Given the description of an element on the screen output the (x, y) to click on. 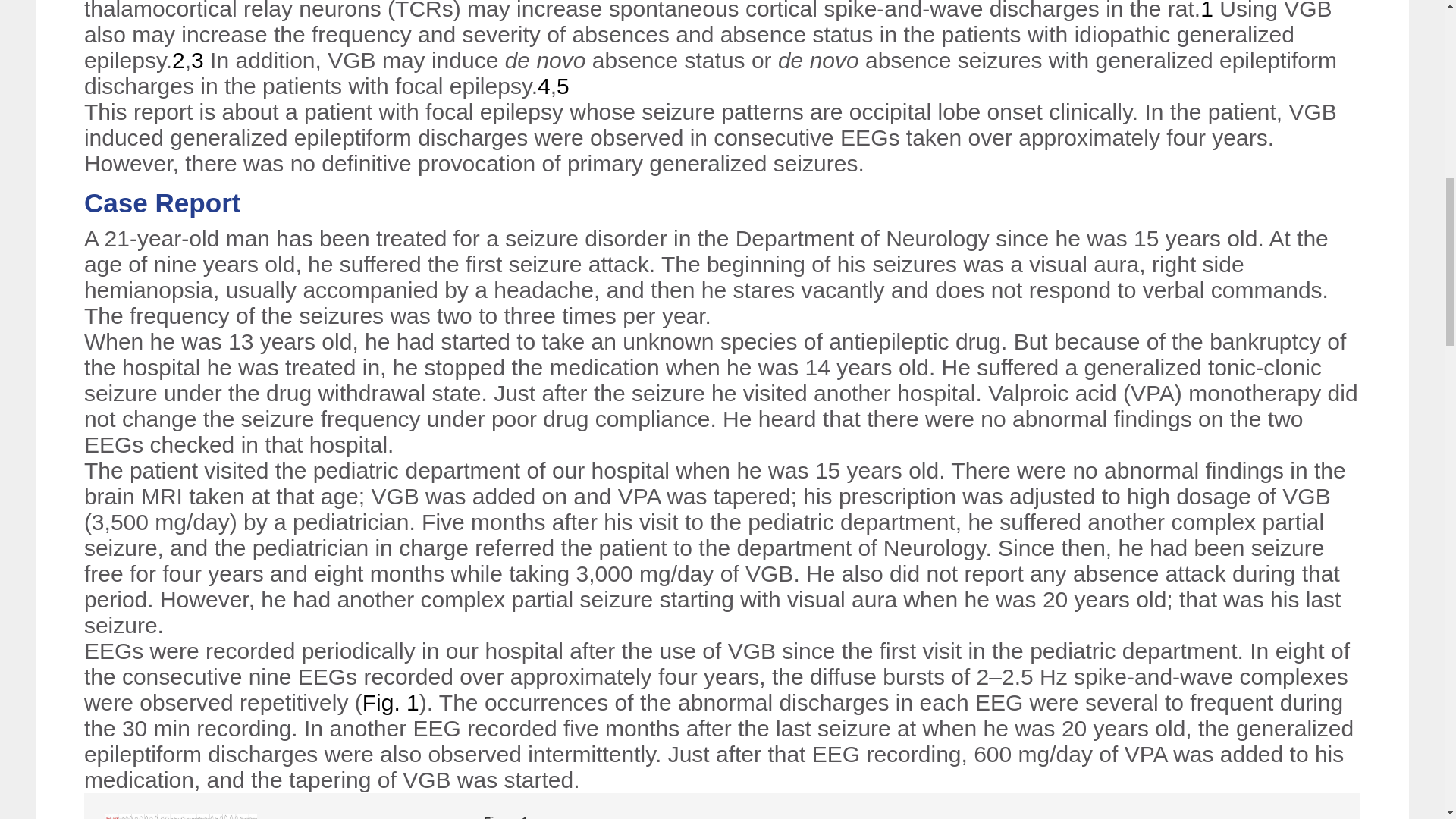
Fig. 1 (390, 702)
